Given the description of an element on the screen output the (x, y) to click on. 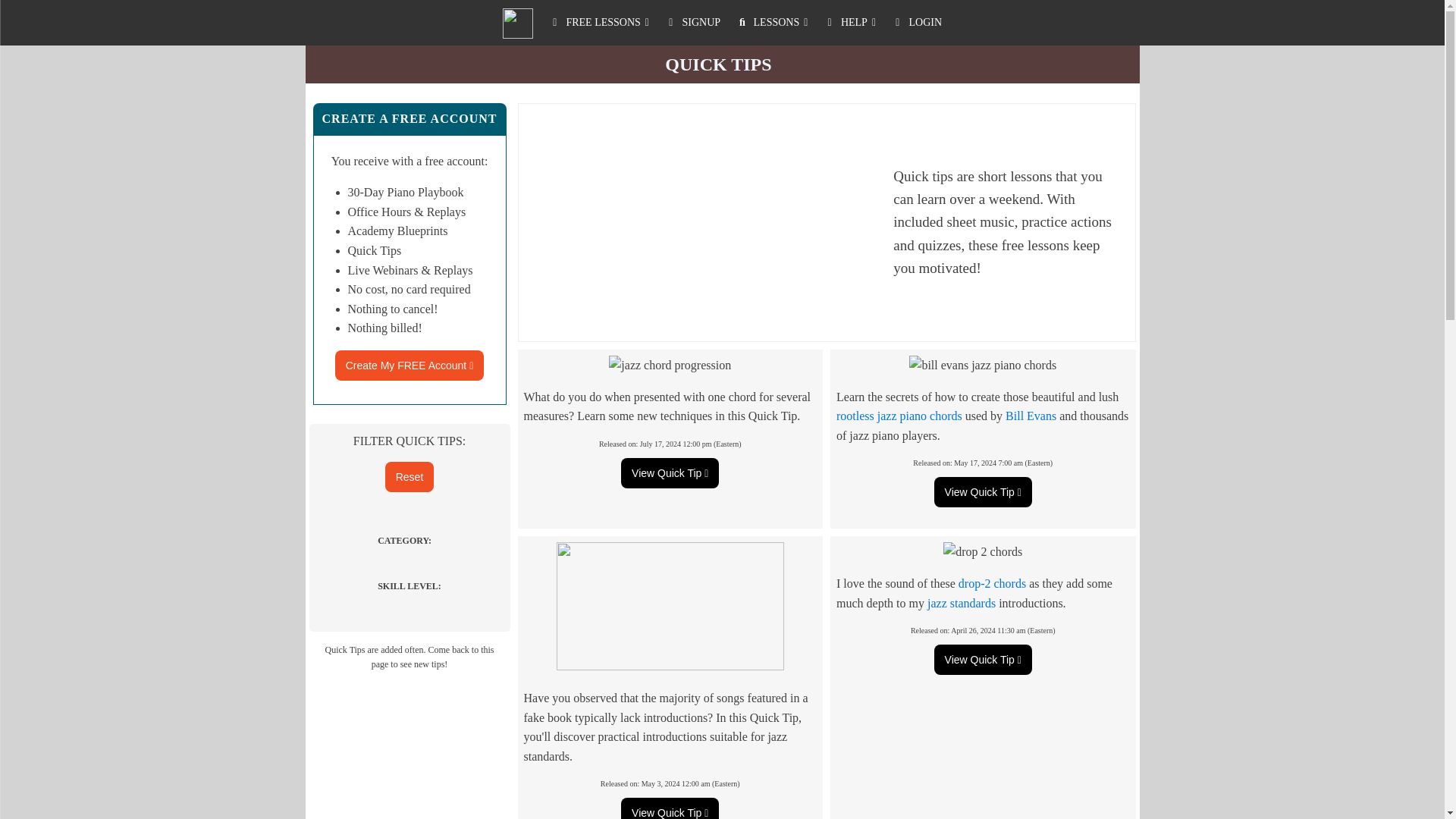
LESSONS (771, 22)
"Stardust" (992, 583)
"Waltz For Debby" - Vol. 1 (1031, 415)
SIGNUP (692, 22)
12 Days of Jazz Standards (961, 603)
FREE LESSONS (598, 22)
